Given the description of an element on the screen output the (x, y) to click on. 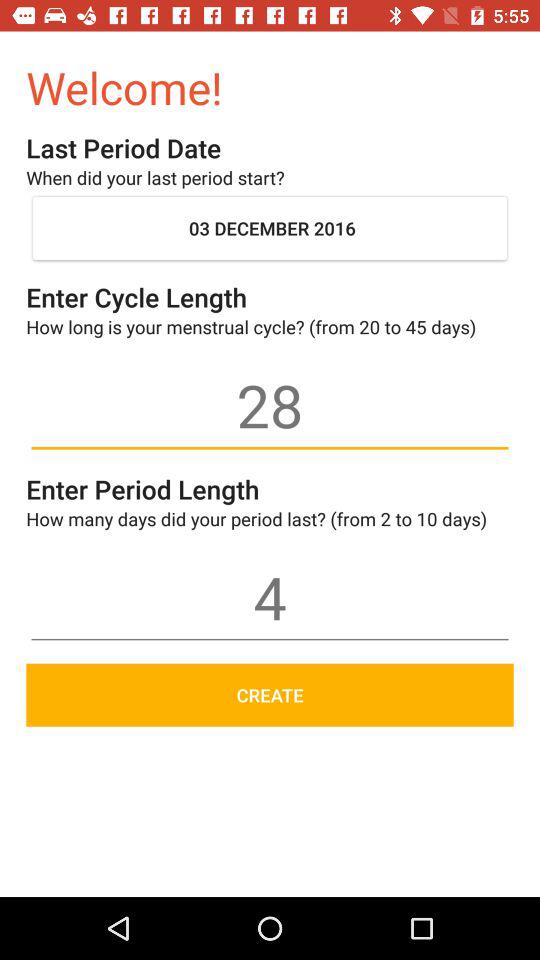
select icon above create (269, 597)
